Given the description of an element on the screen output the (x, y) to click on. 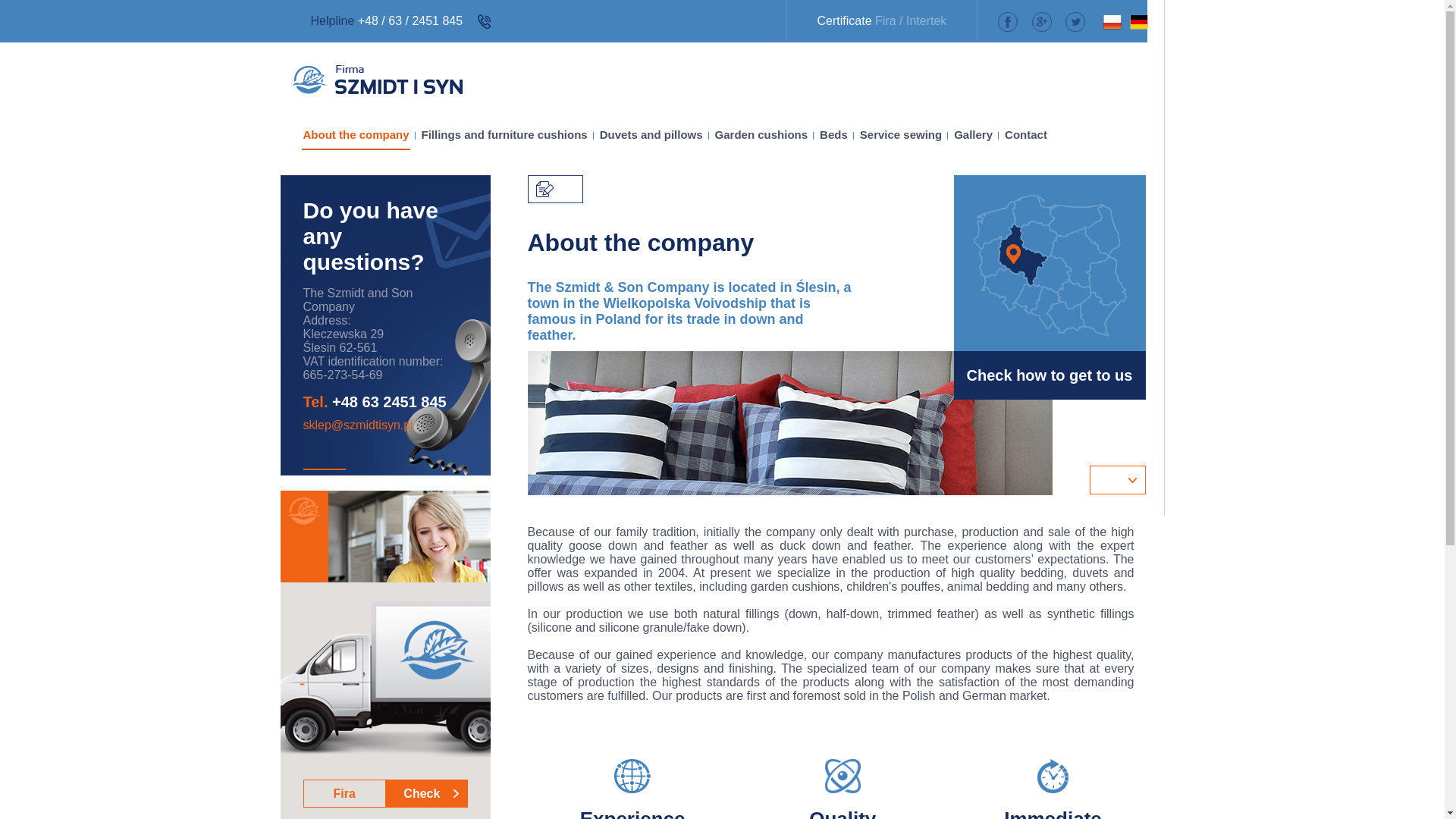
Contact (1025, 134)
Garden cushions (761, 134)
Fira (885, 20)
Intertek (925, 20)
Gallery (972, 134)
Fillings and furniture cushions (504, 134)
Check how to get to us (1067, 263)
Beds (833, 134)
About the company (355, 134)
Duvets and pillows (651, 134)
Service sewing (900, 134)
